Given the description of an element on the screen output the (x, y) to click on. 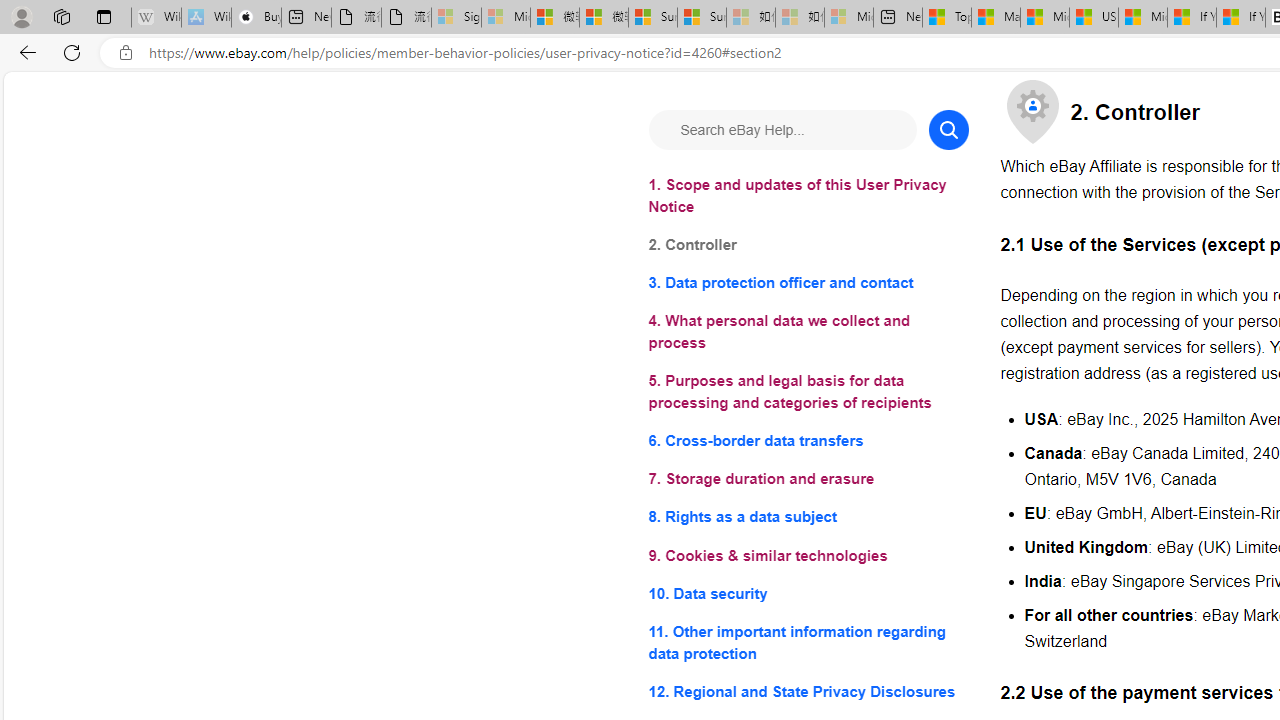
9. Cookies & similar technologies (807, 555)
3. Data protection officer and contact (807, 283)
Microsoft Services Agreement - Sleeping (505, 17)
